Given the description of an element on the screen output the (x, y) to click on. 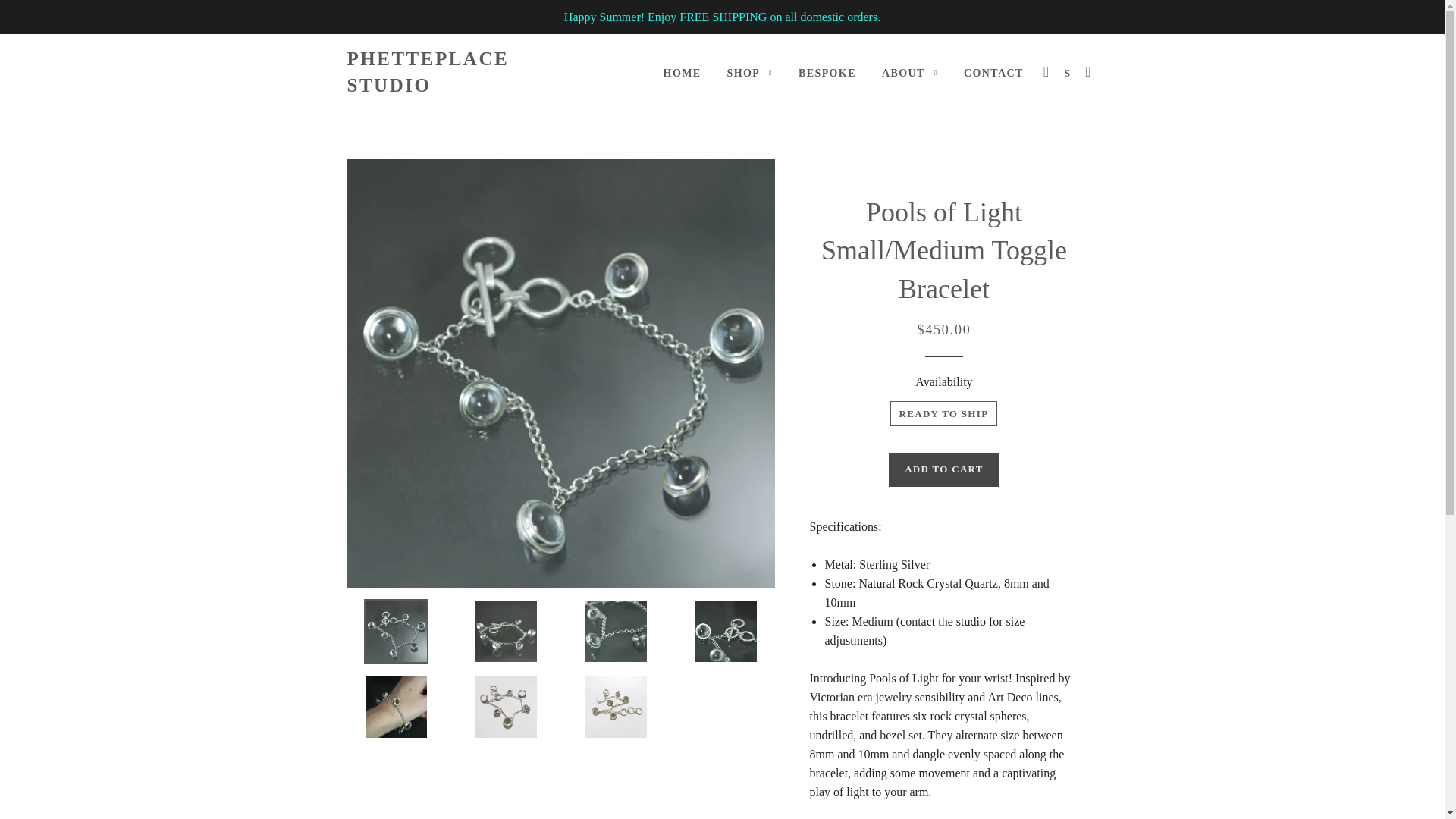
PHETTEPLACE STUDIO (471, 71)
ABOUT (909, 73)
HOME (682, 73)
CONTACT (993, 73)
BESPOKE (827, 73)
SHOP (750, 73)
